Given the description of an element on the screen output the (x, y) to click on. 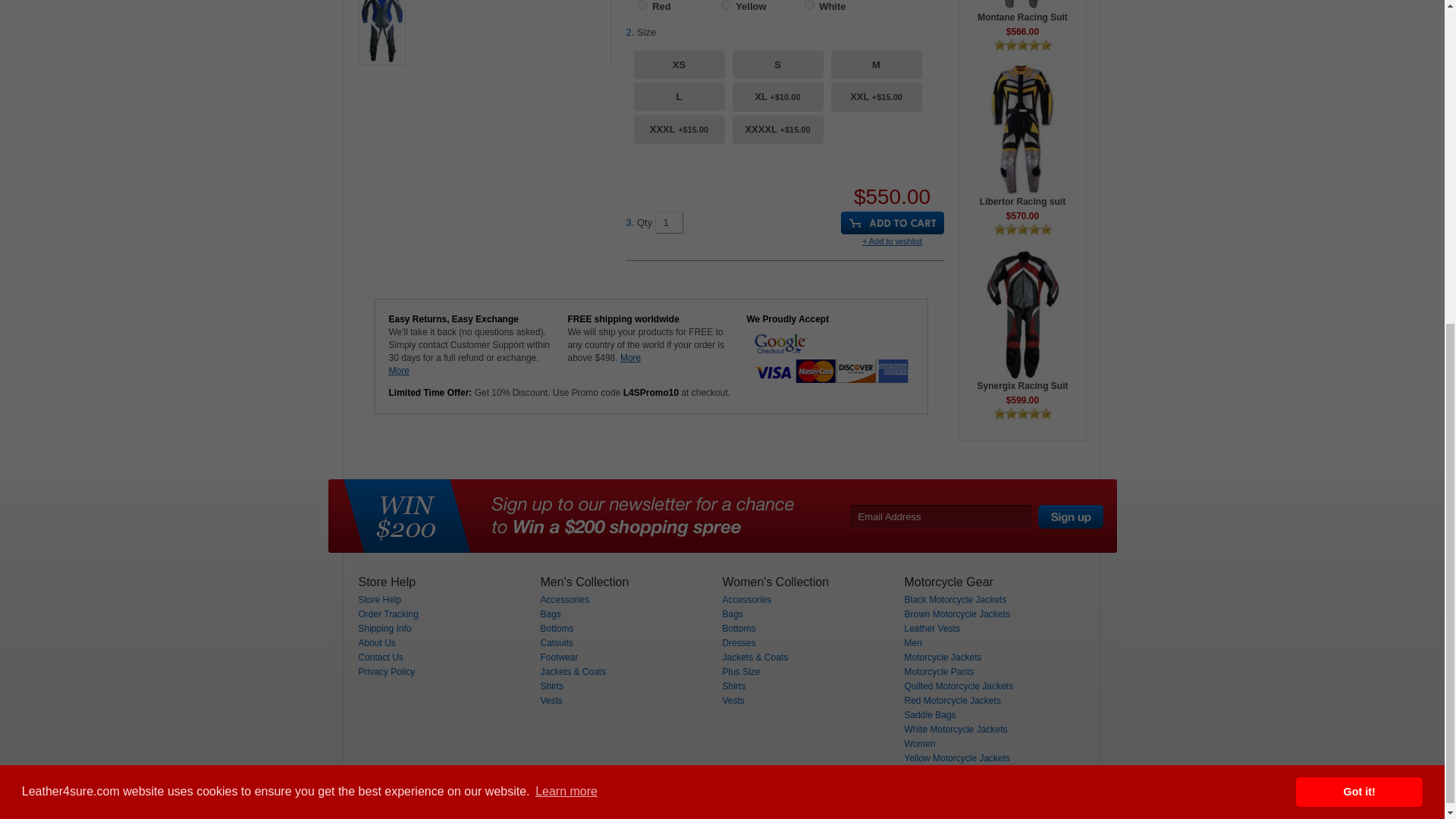
More (630, 357)
1 (668, 222)
31 (725, 4)
55 (808, 4)
Email Address (940, 516)
More (398, 370)
Got it! (1358, 257)
Learn more (565, 257)
47 (641, 4)
